Given the description of an element on the screen output the (x, y) to click on. 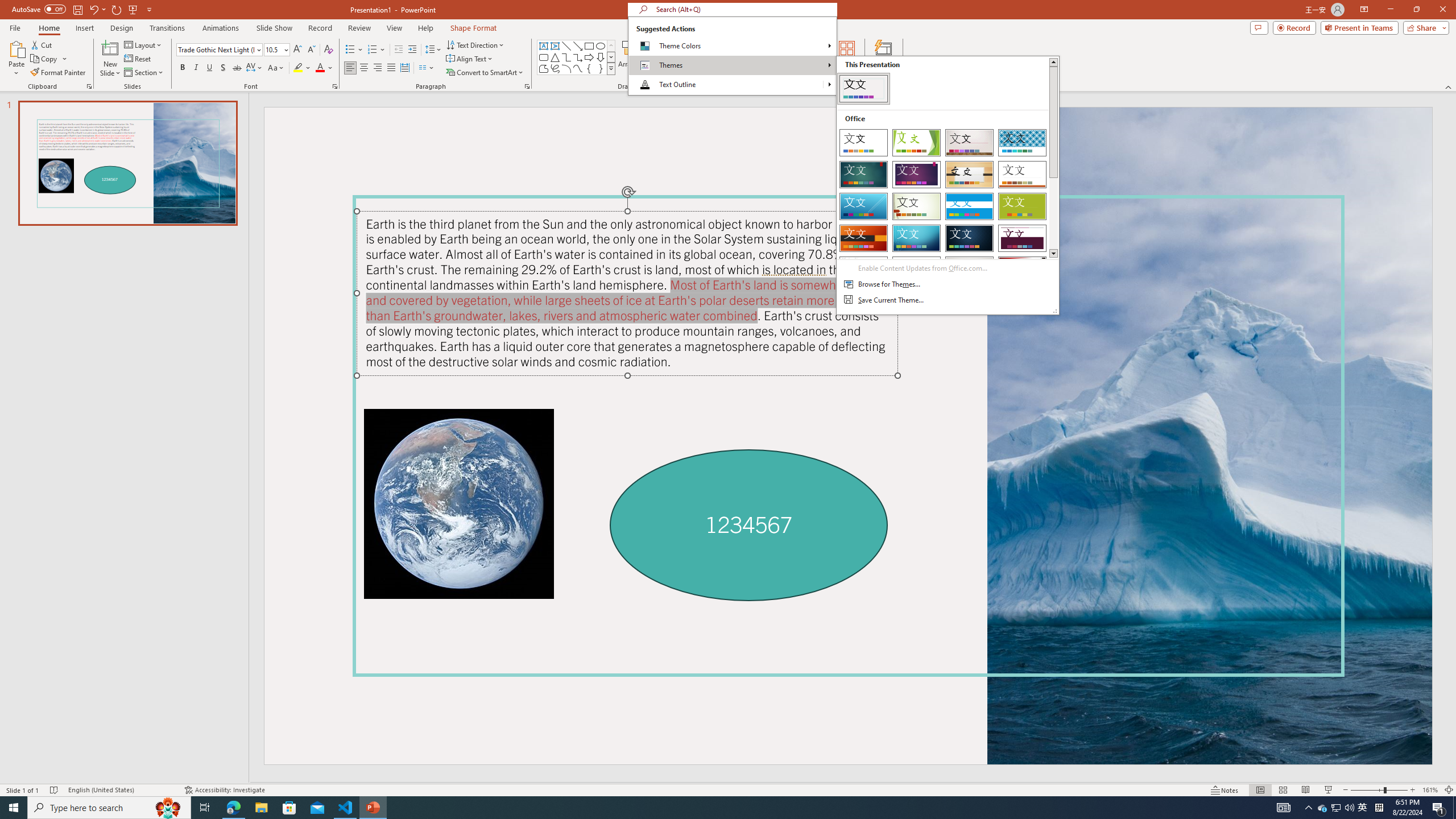
Running applications (700, 807)
Decrease Indent (398, 49)
Themes (731, 65)
Zoom 161% (1430, 790)
